Given the description of an element on the screen output the (x, y) to click on. 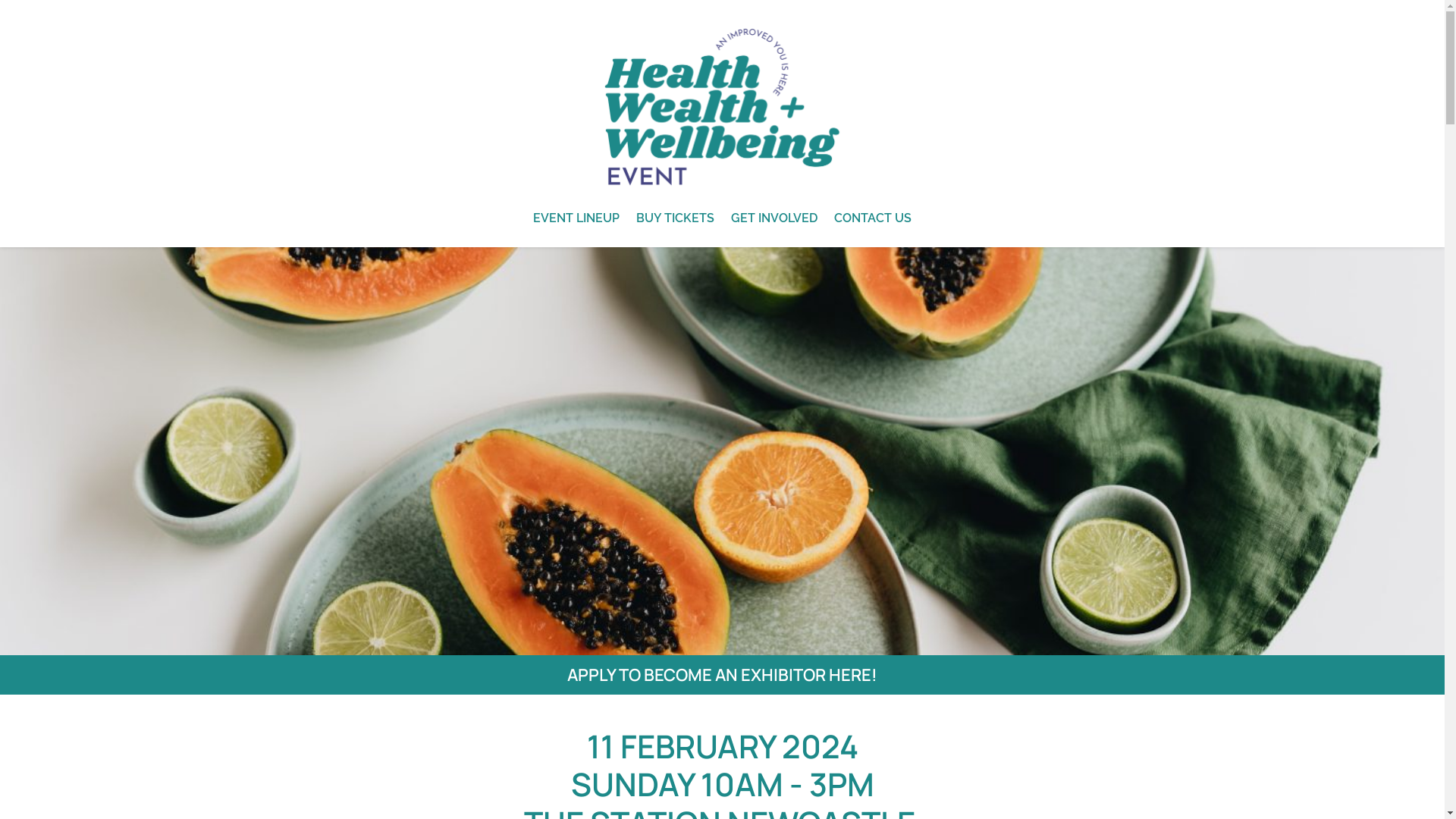
GET INVOLVED Element type: text (774, 217)
APPLY TO BECOME AN EXHIBITOR HERE Element type: text (719, 674)
BUY TICKETS Element type: text (675, 217)
EVENT LINEUP Element type: text (576, 217)
CONTACT US Element type: text (872, 217)
